Given the description of an element on the screen output the (x, y) to click on. 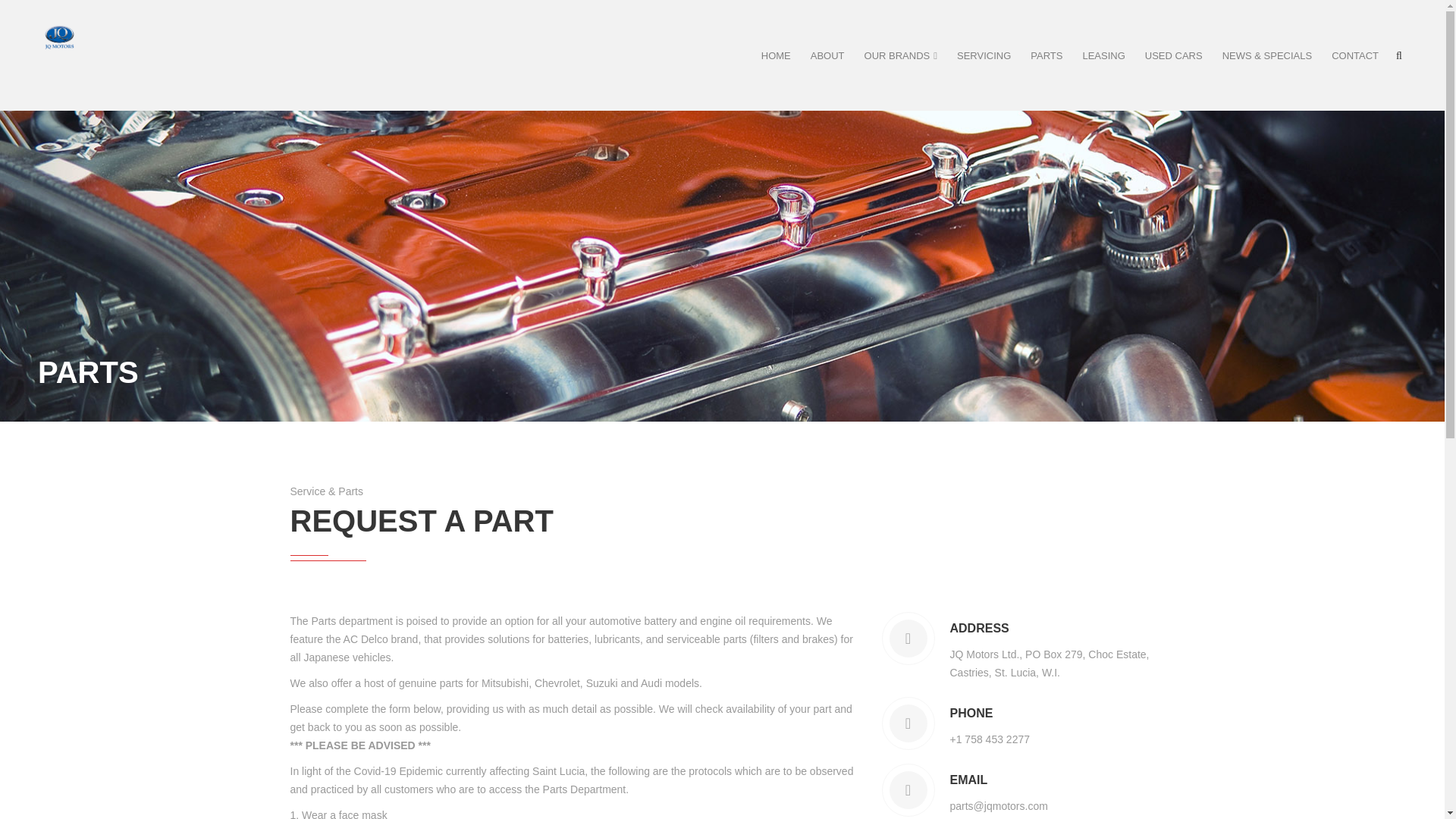
PHONE (989, 713)
EMAIL (997, 780)
ADDRESS (1051, 628)
